Given the description of an element on the screen output the (x, y) to click on. 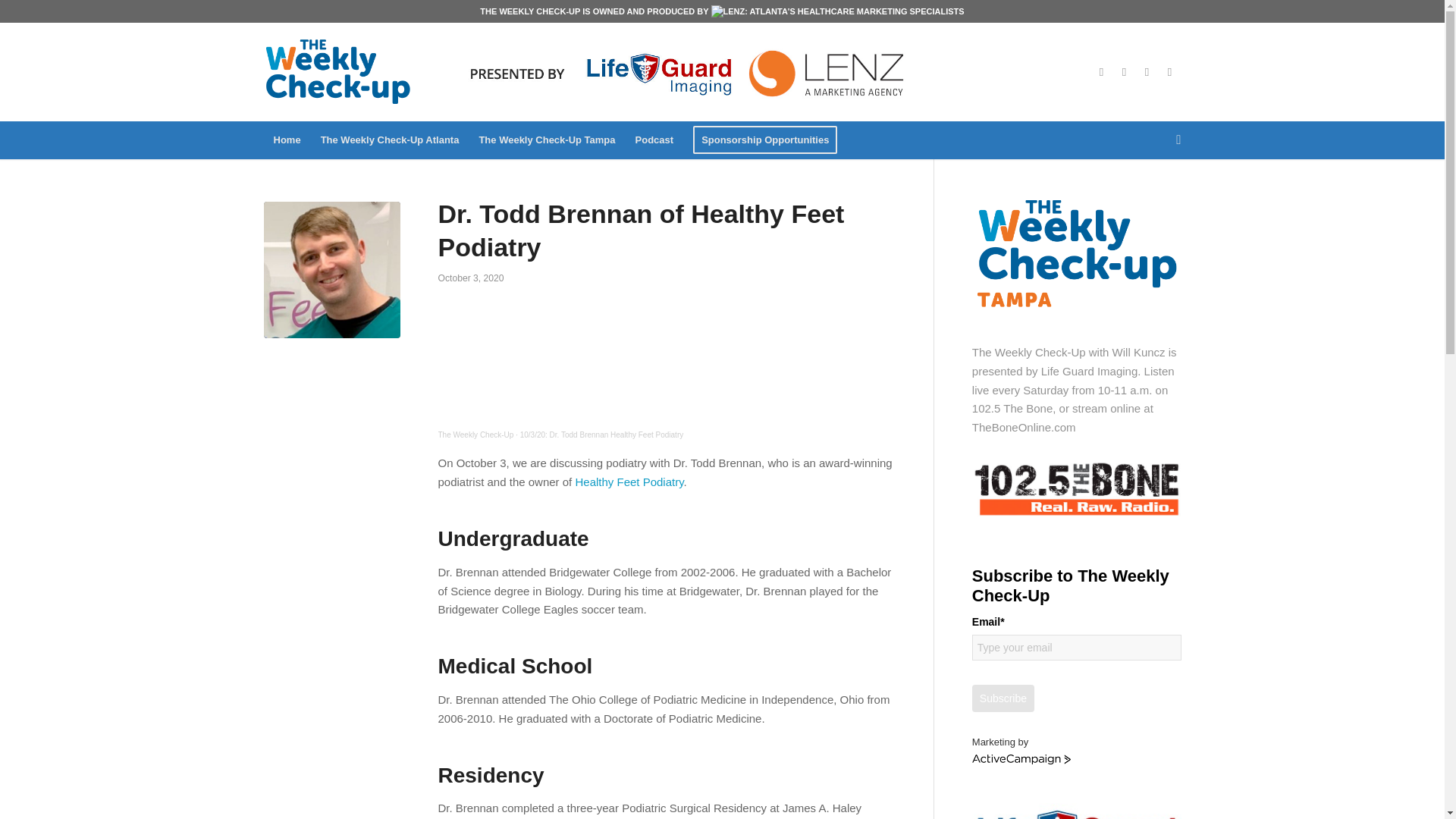
Life Guard Imaging (1089, 370)
The Weekly Check-Up Atlanta (389, 139)
Subscribe (1002, 697)
Soundcloud (1169, 71)
Sponsorship Opportunities (764, 139)
Home (287, 139)
Dr. Todd Brennan of Healthy Feet Podiatry (331, 269)
X (1124, 71)
The Weekly Check-Up Tampa (546, 139)
TheBoneOnline.com (1023, 427)
The Weekly Check-Up (475, 434)
ActiveCampaign (1021, 759)
The Weekly Check-Up (475, 434)
Facebook (1101, 71)
